Given the description of an element on the screen output the (x, y) to click on. 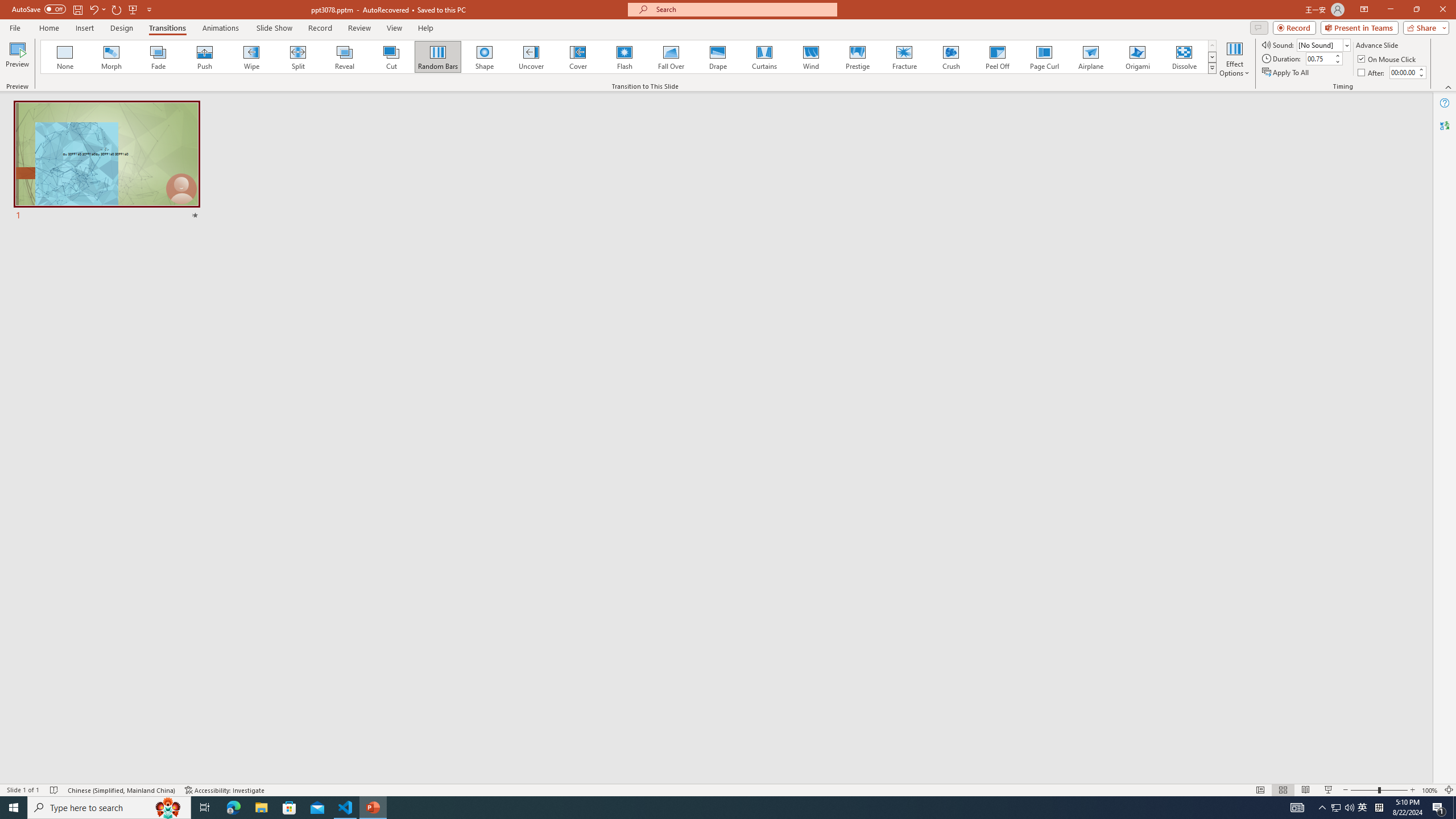
None (65, 56)
Shape (484, 56)
Transition Effects (1212, 67)
Morph (111, 56)
Drape (717, 56)
AutomationID: AnimationTransitionGallery (628, 56)
Wipe (251, 56)
